Given the description of an element on the screen output the (x, y) to click on. 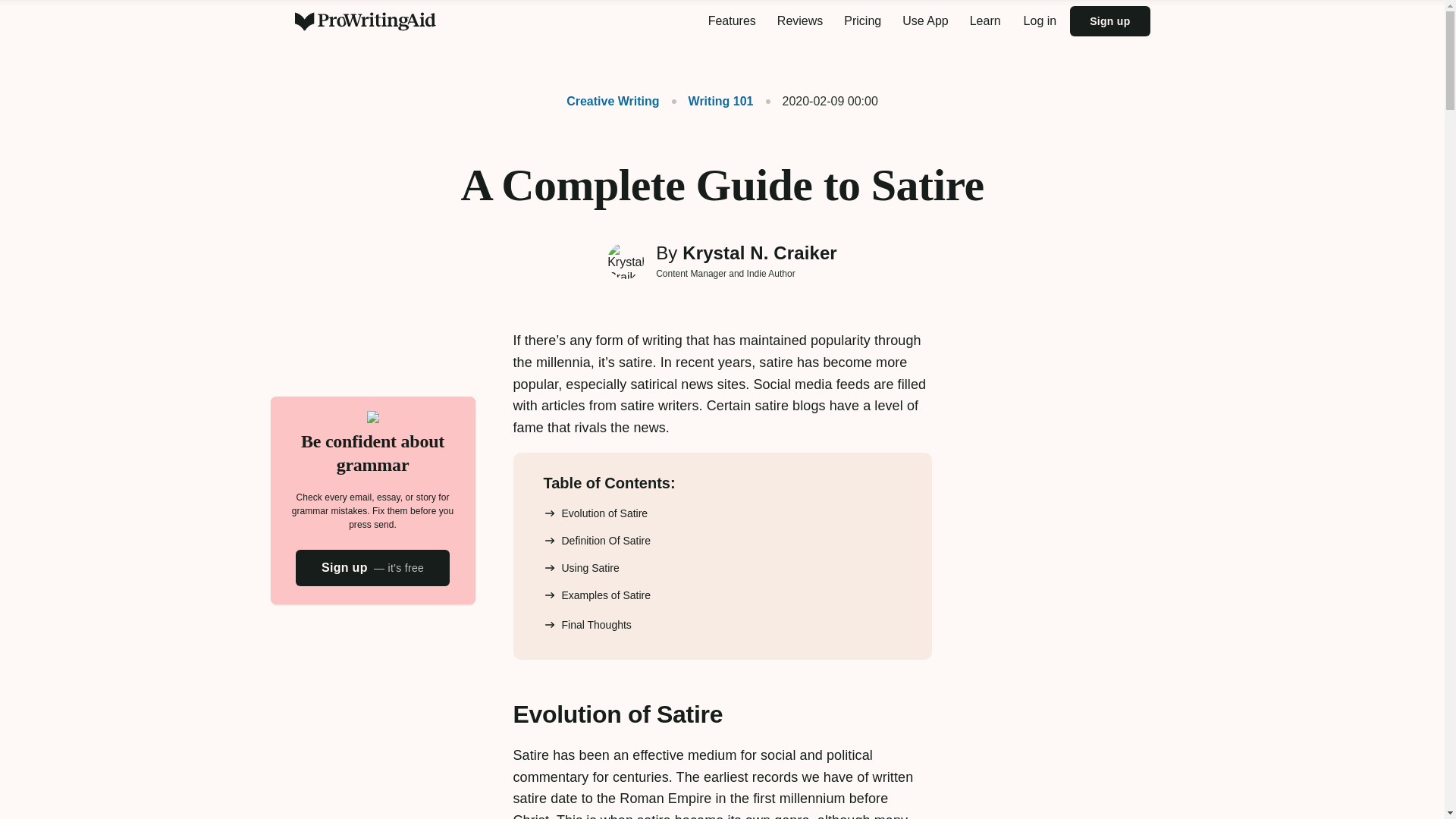
Reviews (799, 21)
Features (731, 21)
Creative Writing (612, 101)
Definition Of Satire (596, 540)
Log in (1039, 21)
Learn (985, 21)
Writing 101 (712, 101)
Examples of Satire (596, 595)
Sign up (1110, 20)
Pricing (861, 21)
Evolution of Satire (595, 513)
Use App (924, 21)
Using Satire (580, 567)
